Given the description of an element on the screen output the (x, y) to click on. 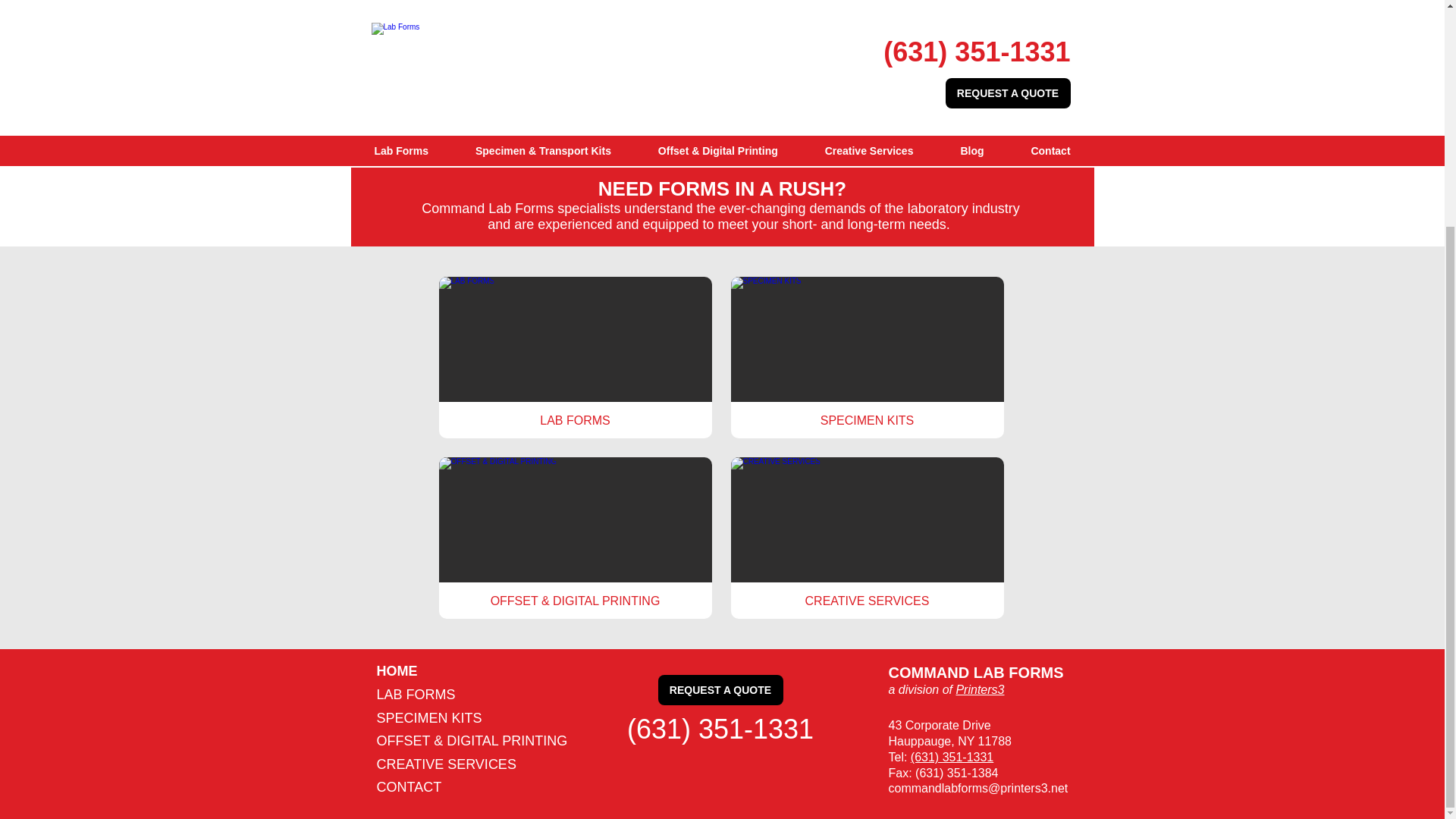
CONTACT (408, 786)
SPECIMEN KITS (428, 717)
REQUEST A QUOTE (720, 689)
LAB FORMS (574, 357)
Printers3 (979, 689)
CREATIVE SERVICES (867, 538)
CREATIVE SERVICES (445, 764)
LAB FORMS (414, 694)
SPECIMEN KITS (867, 357)
See why we are the REQSperts! (481, 96)
